Given the description of an element on the screen output the (x, y) to click on. 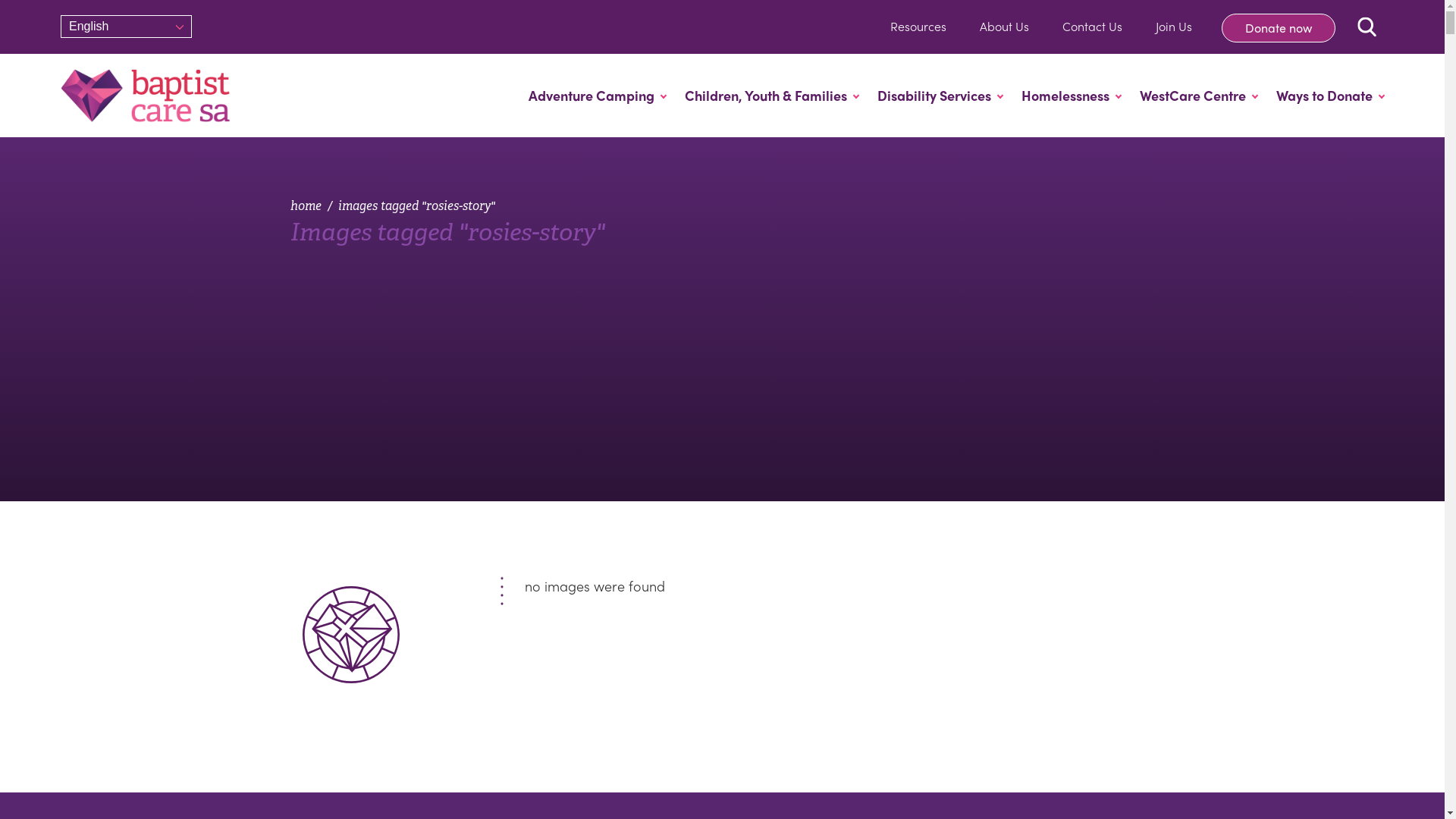
images tagged "rosies-story" Element type: text (416, 205)
home Element type: text (304, 205)
Donate now Element type: text (1278, 27)
English Element type: text (129, 26)
Contact Us Element type: text (1092, 25)
Join Us Element type: text (1173, 25)
Resources Element type: text (918, 25)
About Us Element type: text (1003, 25)
